Given the description of an element on the screen output the (x, y) to click on. 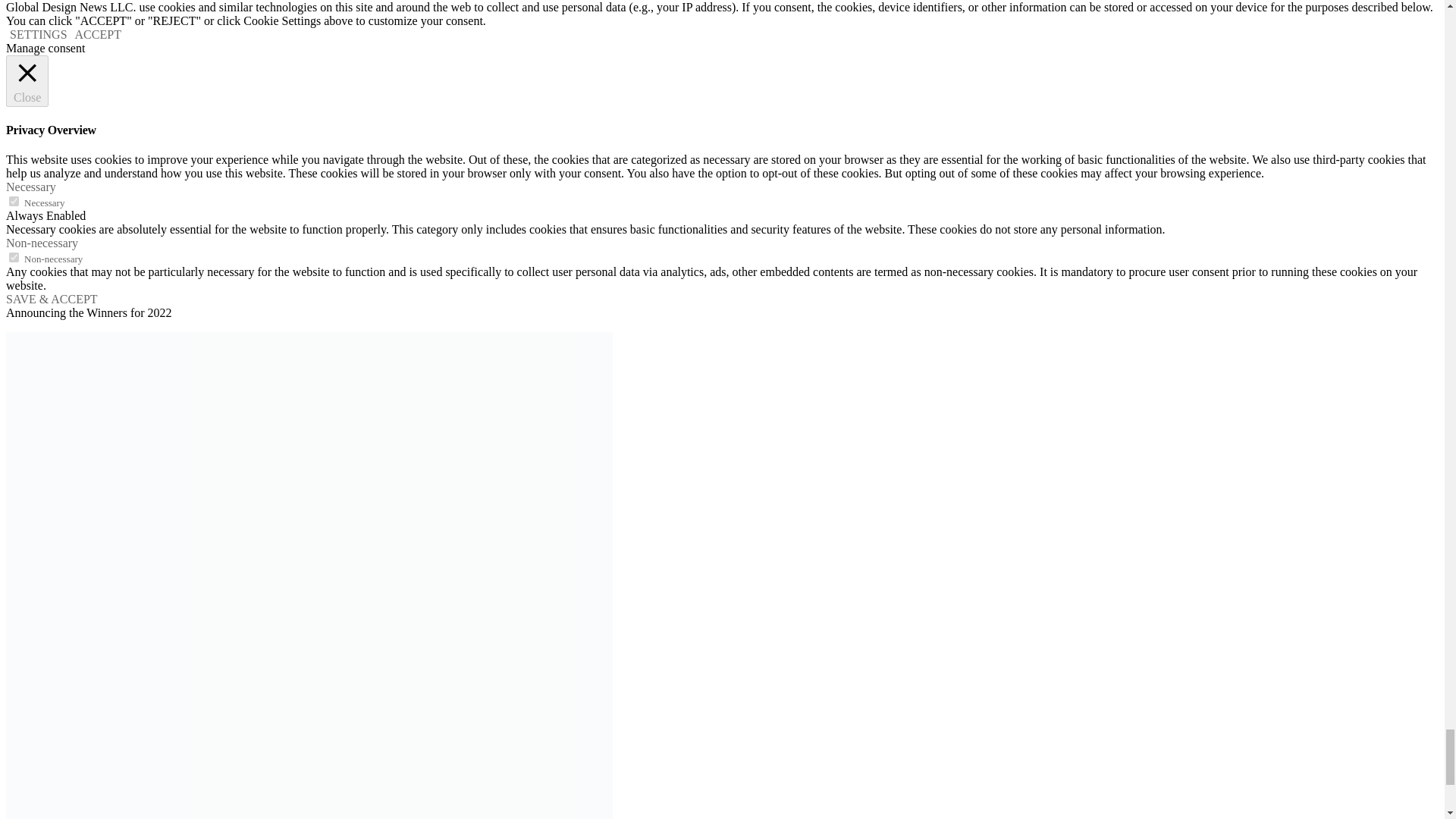
on (13, 201)
on (13, 257)
